Given the description of an element on the screen output the (x, y) to click on. 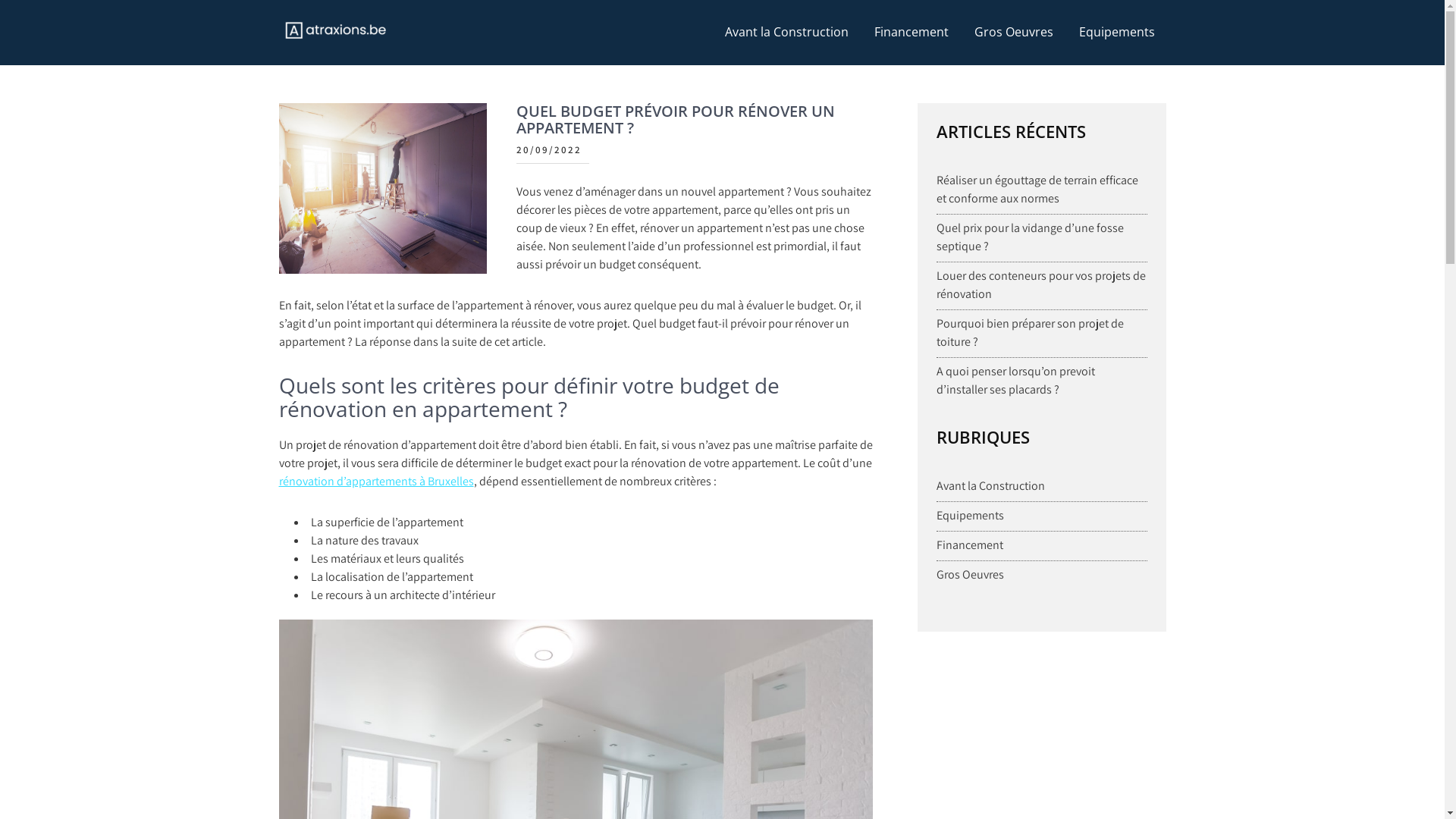
Gros Oeuvres Element type: text (1013, 31)
Atraxions Element type: text (329, 64)
Equipements Element type: text (1116, 31)
Avant la Construction Element type: text (785, 31)
Avant la Construction Element type: text (990, 485)
Financement Element type: text (911, 31)
Financement Element type: text (969, 545)
Equipements Element type: text (970, 515)
Gros Oeuvres Element type: text (970, 574)
